Given the description of an element on the screen output the (x, y) to click on. 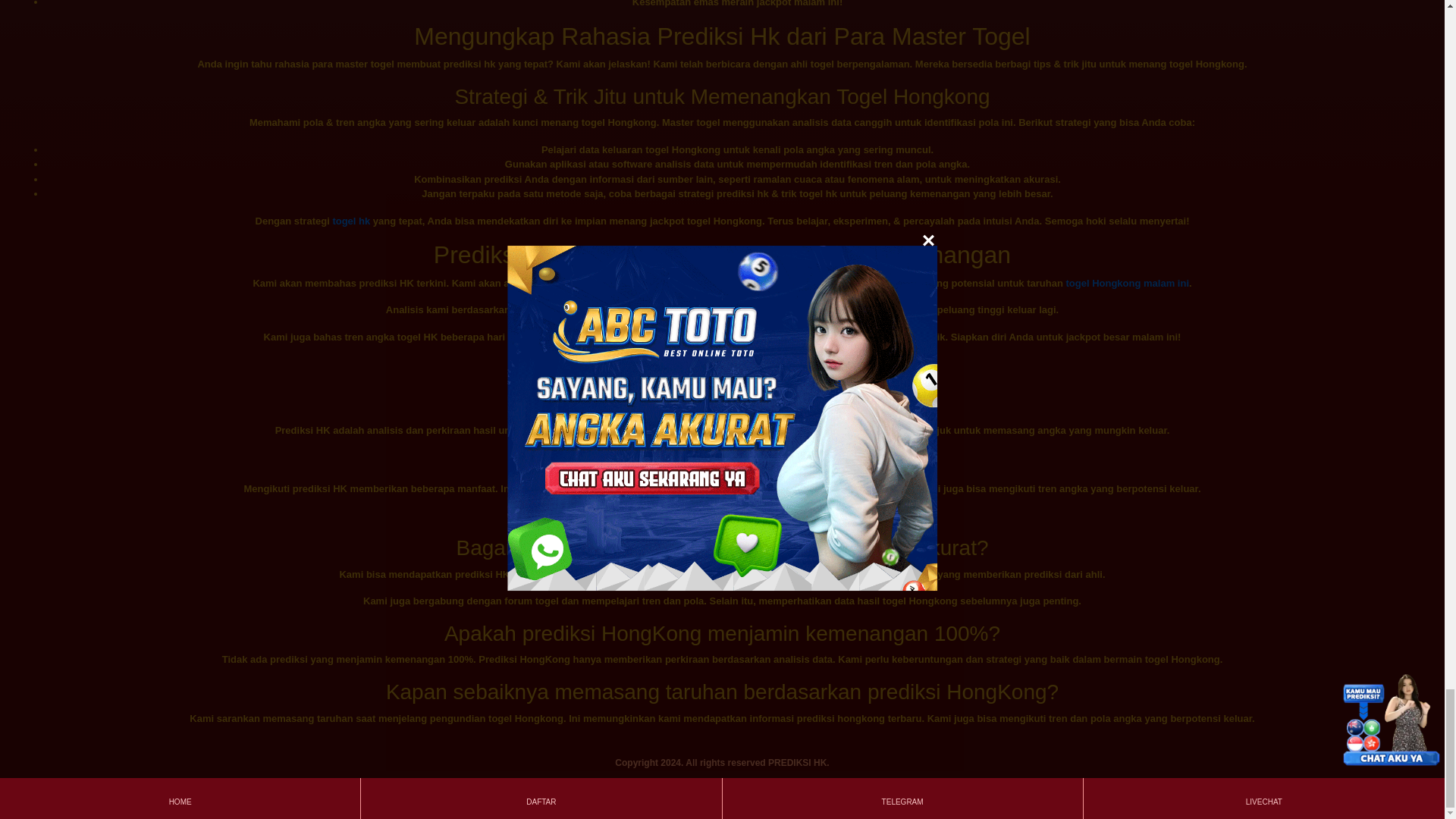
togel Hongkong (571, 430)
togel hk (350, 220)
togel Hongkong malam ini (1127, 283)
